Given the description of an element on the screen output the (x, y) to click on. 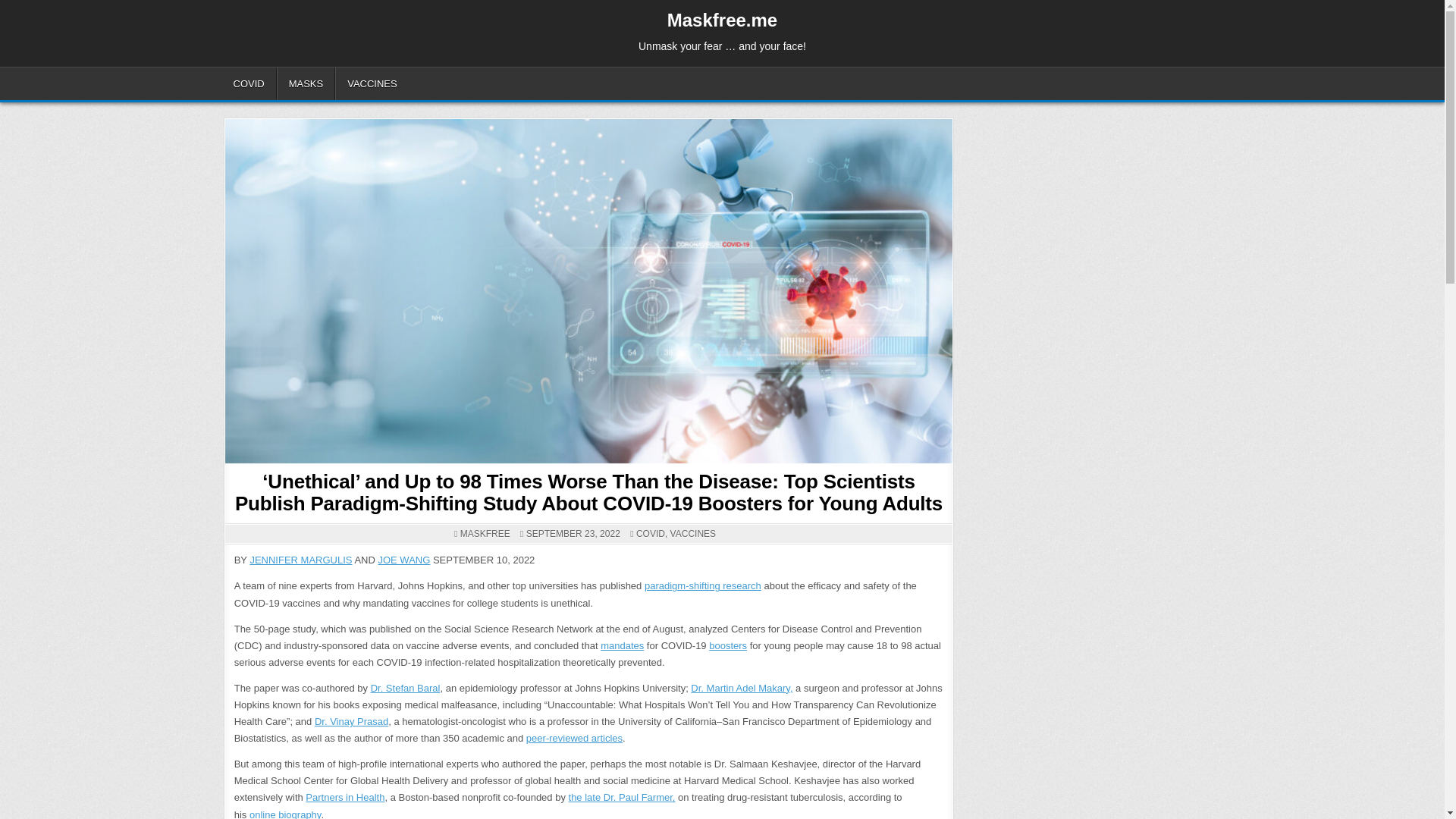
JENNIFER MARGULIS (300, 559)
boosters (727, 645)
Partners in Health (344, 797)
the late Dr. Paul Farmer, (622, 797)
Dr. Stefan Baral (406, 687)
mandates (621, 645)
Maskfree.me (721, 19)
MASKFREE (485, 533)
JOE WANG (403, 559)
online biography (284, 814)
peer-reviewed articles (574, 737)
COVID (650, 533)
MASKS (306, 83)
COVID (248, 83)
Dr. Martin Adel Makary, (741, 687)
